Given the description of an element on the screen output the (x, y) to click on. 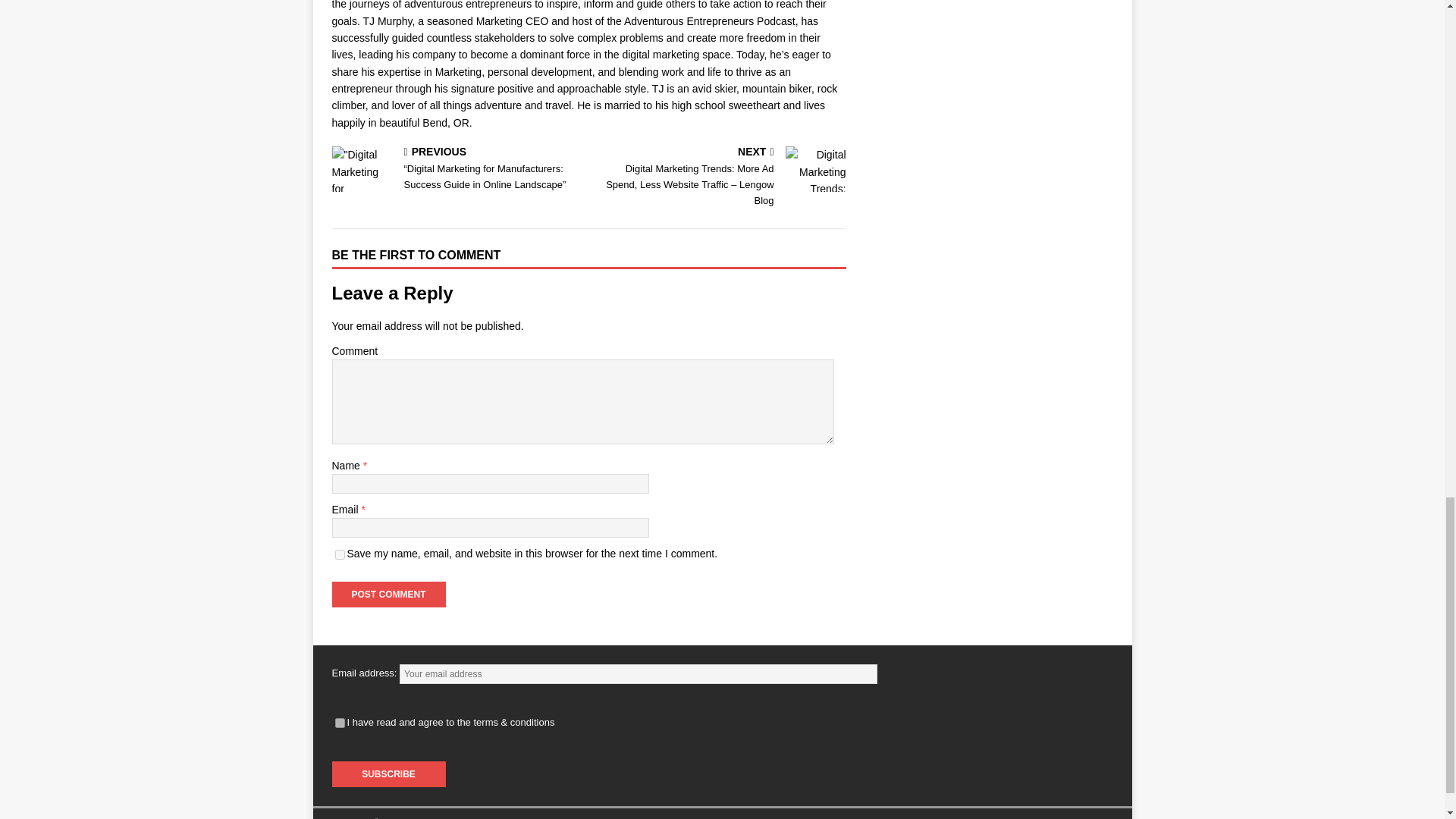
Post Comment (388, 594)
1 (339, 723)
yes (339, 554)
Subscribe (388, 774)
Subscribe (388, 774)
Post Comment (388, 594)
